Given the description of an element on the screen output the (x, y) to click on. 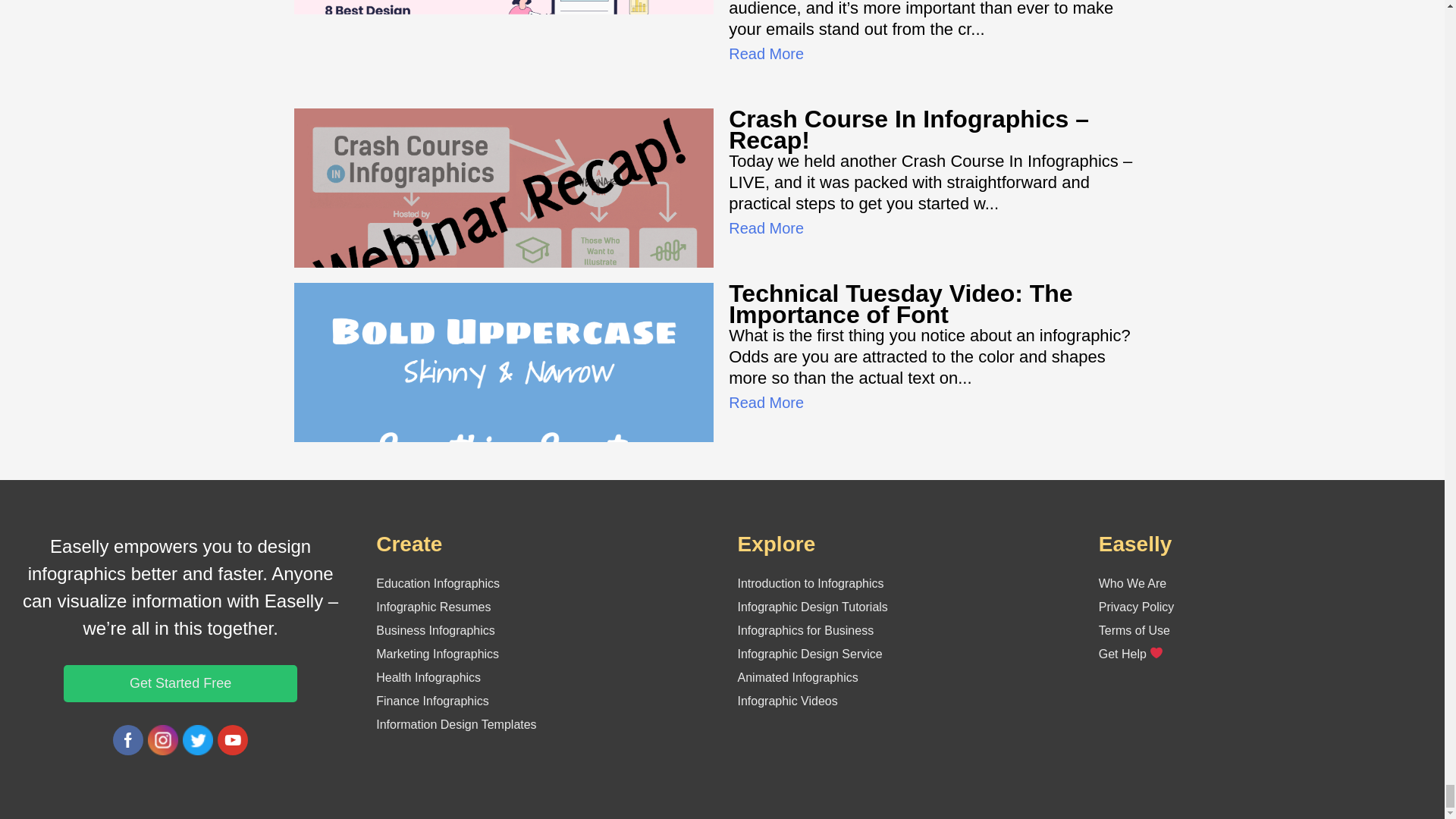
Education Infographics (437, 583)
Technical Tuesday Video: The Importance of Font (900, 304)
Read More (766, 228)
Business Infographics (435, 630)
Introduction to Infographics (809, 583)
Read More (766, 53)
Health Infographics (427, 676)
Read More (766, 402)
Get Started Free (181, 683)
Infographic Resumes (432, 606)
